Given the description of an element on the screen output the (x, y) to click on. 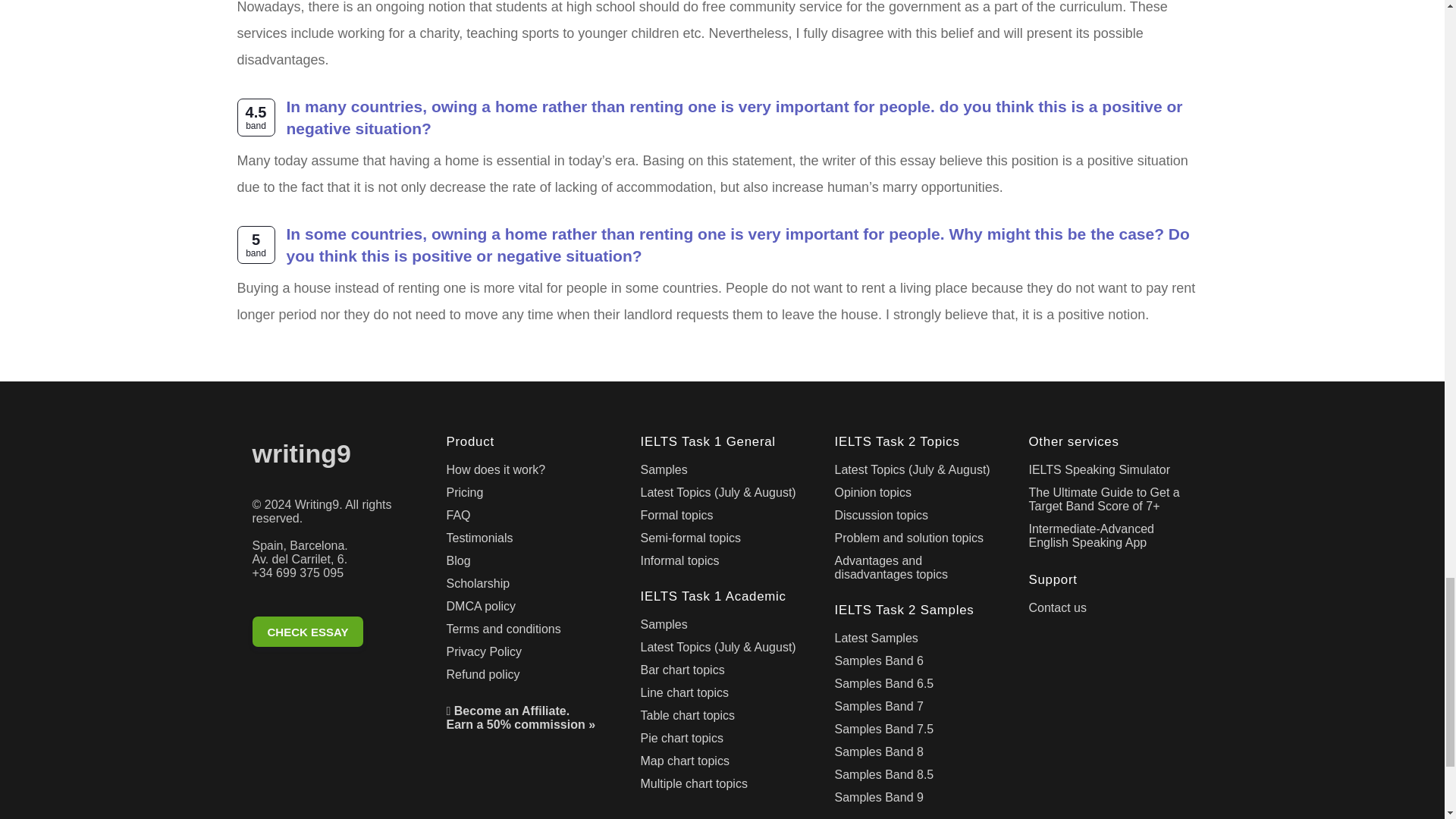
How does it work? (527, 472)
IELTS Task 1 Academic Latest Topics (721, 650)
IELTS Task 1 General Latest Topics (721, 495)
IELTS Task 1 Academic Multiple chart topics (721, 786)
IELTS Task 1 General Informal topics (721, 563)
IELTS Task 2 Latest Topics (915, 472)
Pricing (527, 495)
IELTS Task 1 Academic Bar chart topics (721, 672)
IELTS Task 1 Academic Line chart topics (721, 695)
IELTS Task 2 Discussion topics (915, 517)
writing9 (332, 456)
IELTS Task 1 Academic Table chart topics (721, 718)
IELTS Task 1 General Formal topics (721, 517)
IELTS Task 1 Academic Pie chart topics (721, 741)
IELTS Task 2 Opinion topics (915, 495)
